Given the description of an element on the screen output the (x, y) to click on. 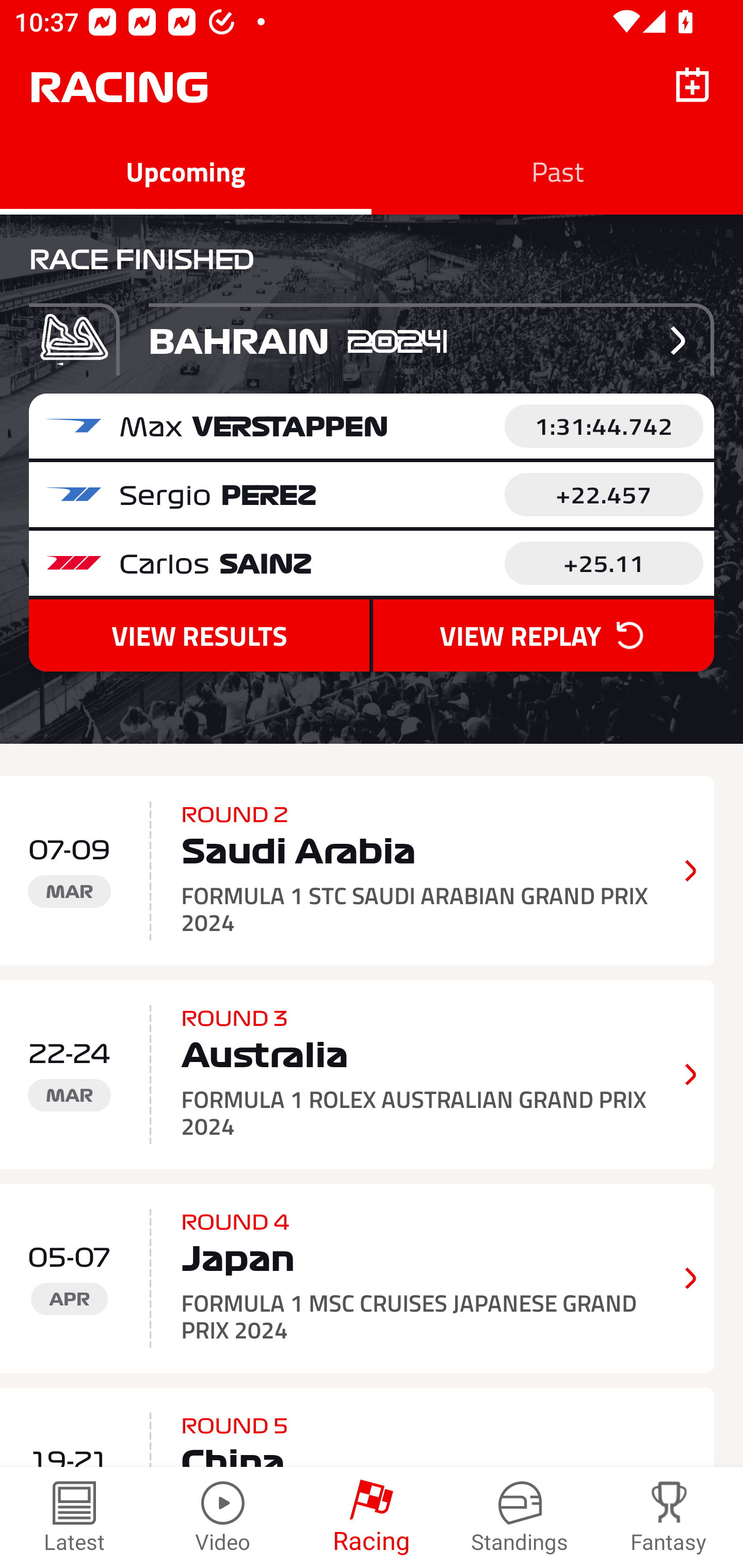
Past (557, 171)
VIEW RESULTS (198, 634)
VIEW REPLAY (543, 634)
Latest (74, 1517)
Video (222, 1517)
Standings (519, 1517)
Fantasy (668, 1517)
